Given the description of an element on the screen output the (x, y) to click on. 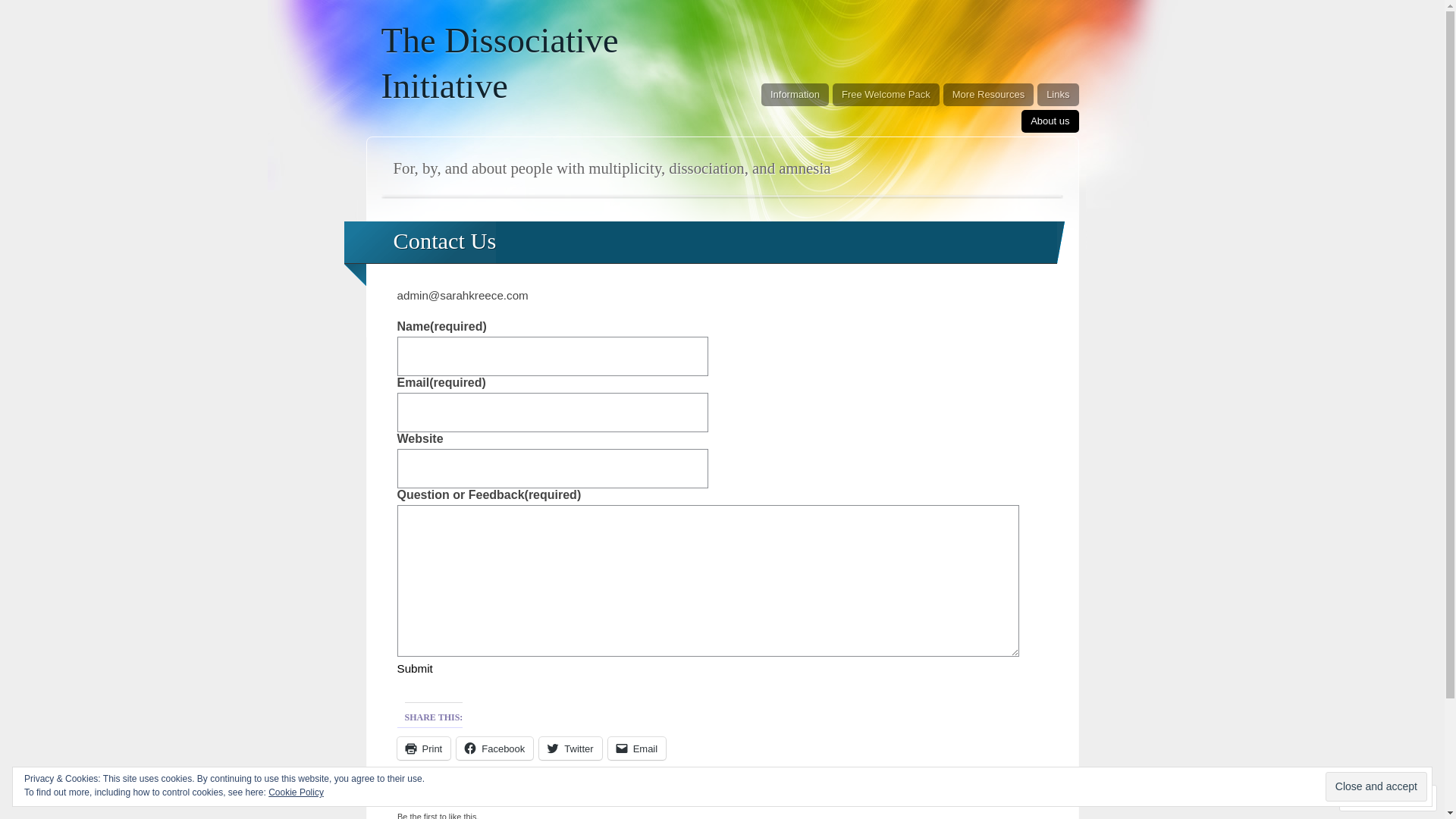
Please enter a valid URL - https://www.example.com Element type: hover (552, 468)
Email Element type: text (637, 748)
Close and accept Element type: text (1376, 786)
Facebook Element type: text (494, 748)
Free Welcome Pack Element type: text (885, 94)
More Resources Element type: text (988, 94)
Links Element type: text (1057, 94)
Follow Element type: text (1373, 797)
Information Element type: text (794, 94)
Submit Element type: text (415, 668)
Print Element type: text (424, 748)
Cookie Policy Element type: text (295, 792)
Twitter Element type: text (570, 748)
The Dissociative Initiative Element type: text (499, 63)
About us Element type: text (1049, 120)
